Given the description of an element on the screen output the (x, y) to click on. 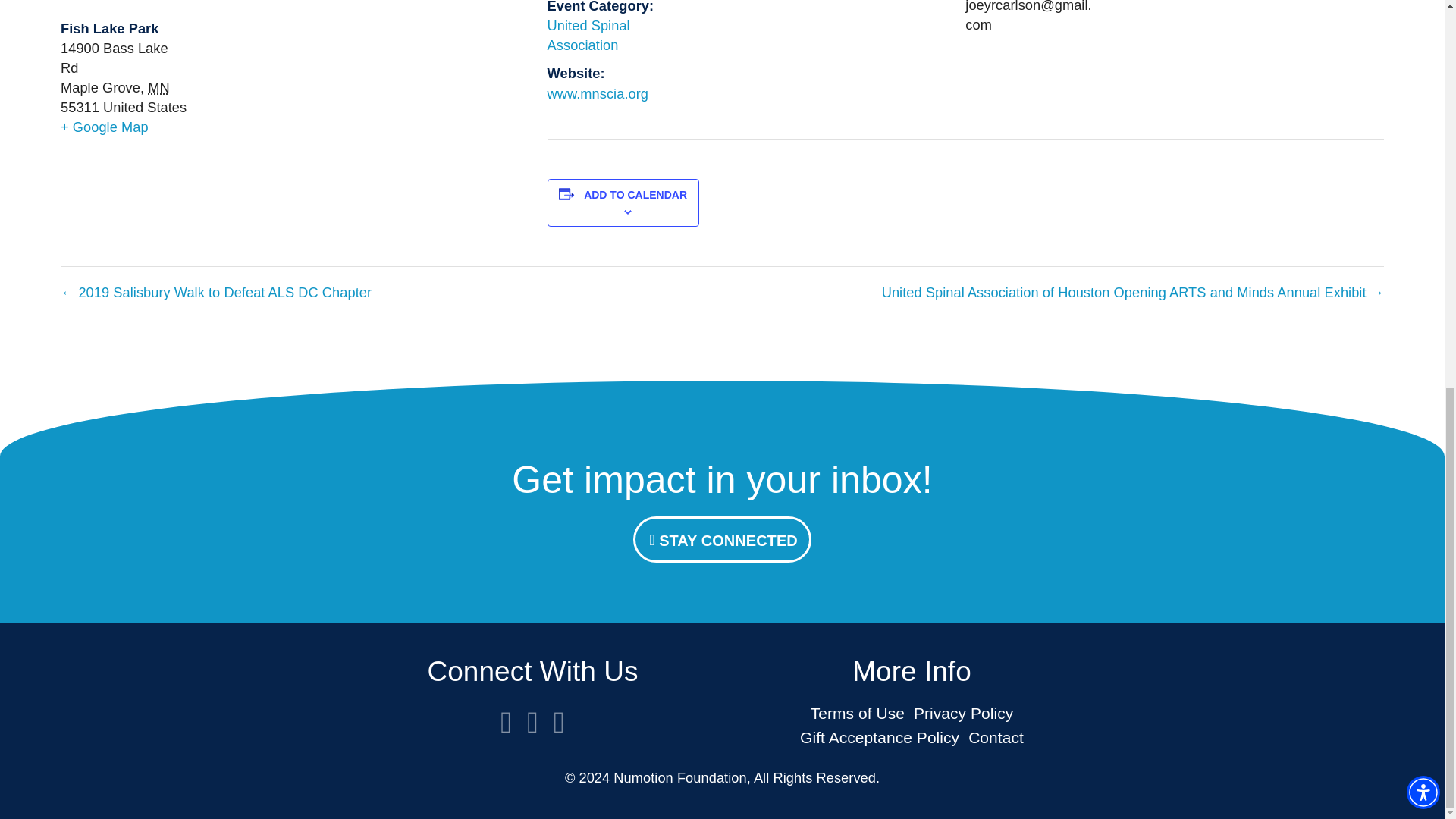
Accessibility Menu (1422, 55)
Click to view a Google Map (104, 126)
Minnesota (158, 87)
STAY CONNECTED (721, 538)
www.mnscia.org (597, 93)
United Spinal Association (588, 35)
ADD TO CALENDAR (635, 194)
